Given the description of an element on the screen output the (x, y) to click on. 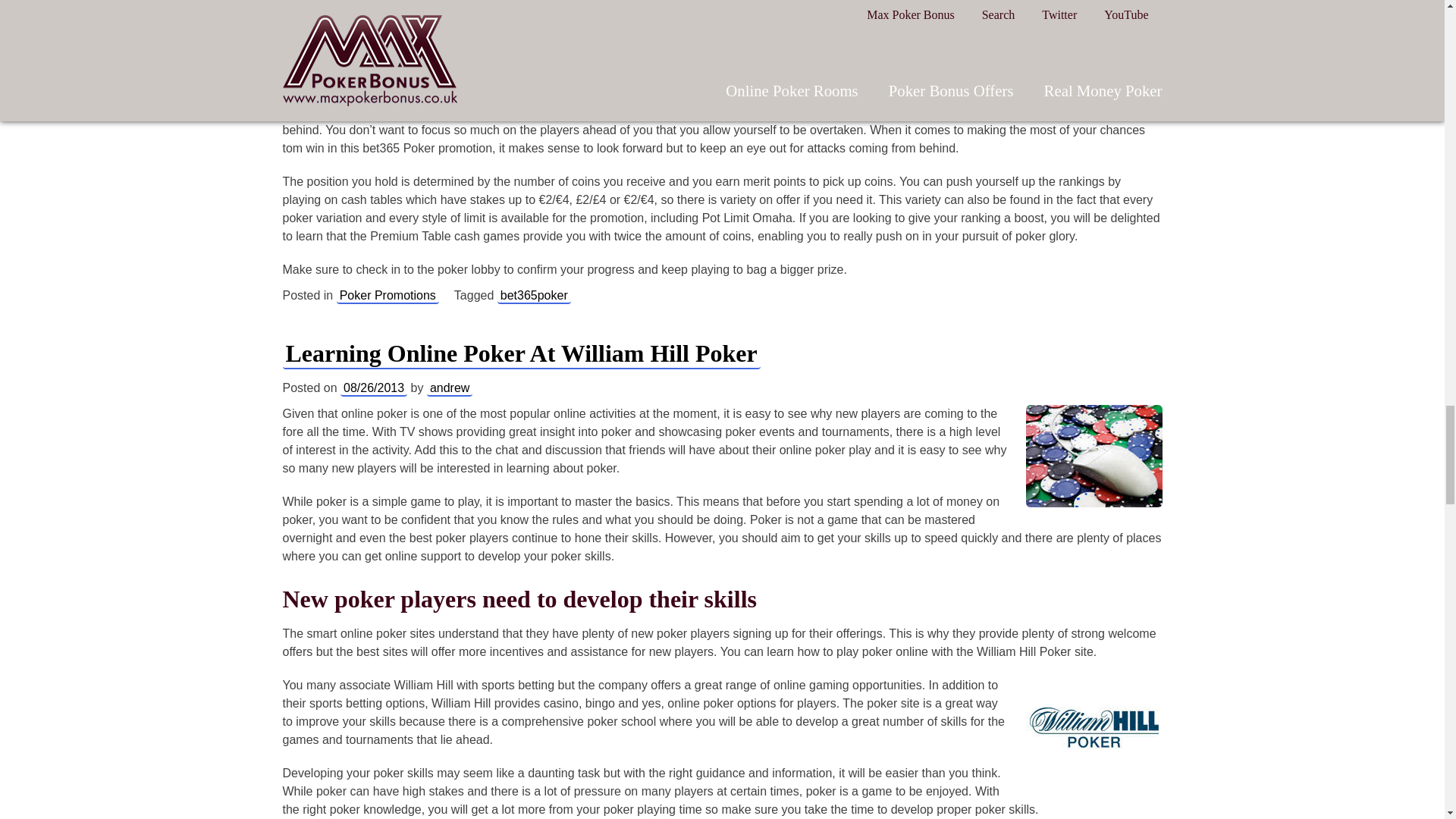
bet365poker (533, 295)
Poker Promotions (387, 295)
